Given the description of an element on the screen output the (x, y) to click on. 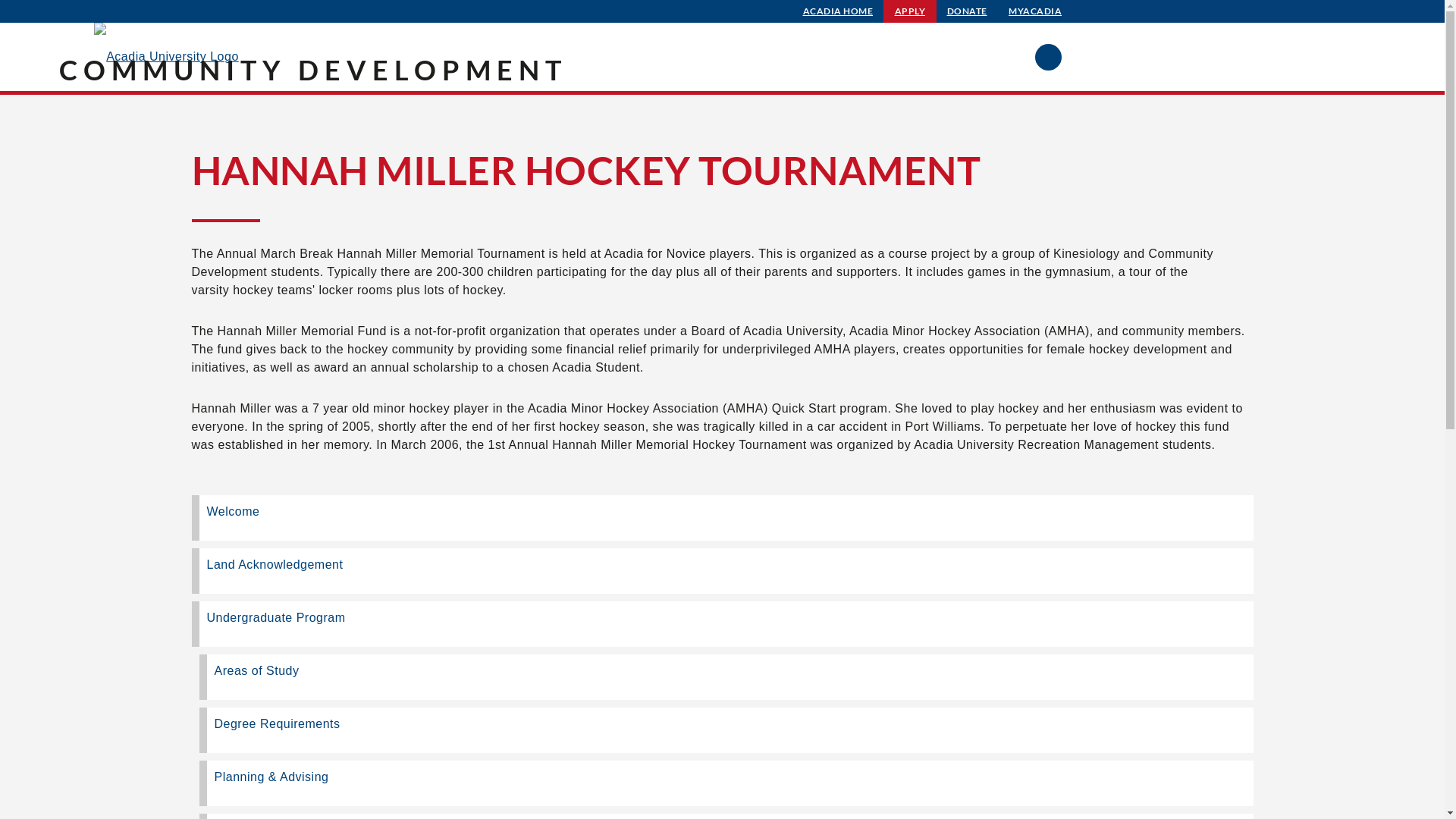
ACADIA HOME Element type: text (837, 11)
MYACADIA Element type: text (1035, 11)
Degree Requirements Element type: text (725, 730)
Welcome Element type: text (721, 517)
Areas of Study Element type: text (725, 676)
APPLY Element type: text (909, 11)
COMMUNITY DEVELOPMENT Element type: text (313, 69)
DONATE Element type: text (966, 11)
Undergraduate Program Element type: text (721, 623)
Planning & Advising Element type: text (725, 783)
Land Acknowledgement Element type: text (721, 570)
